Given the description of an element on the screen output the (x, y) to click on. 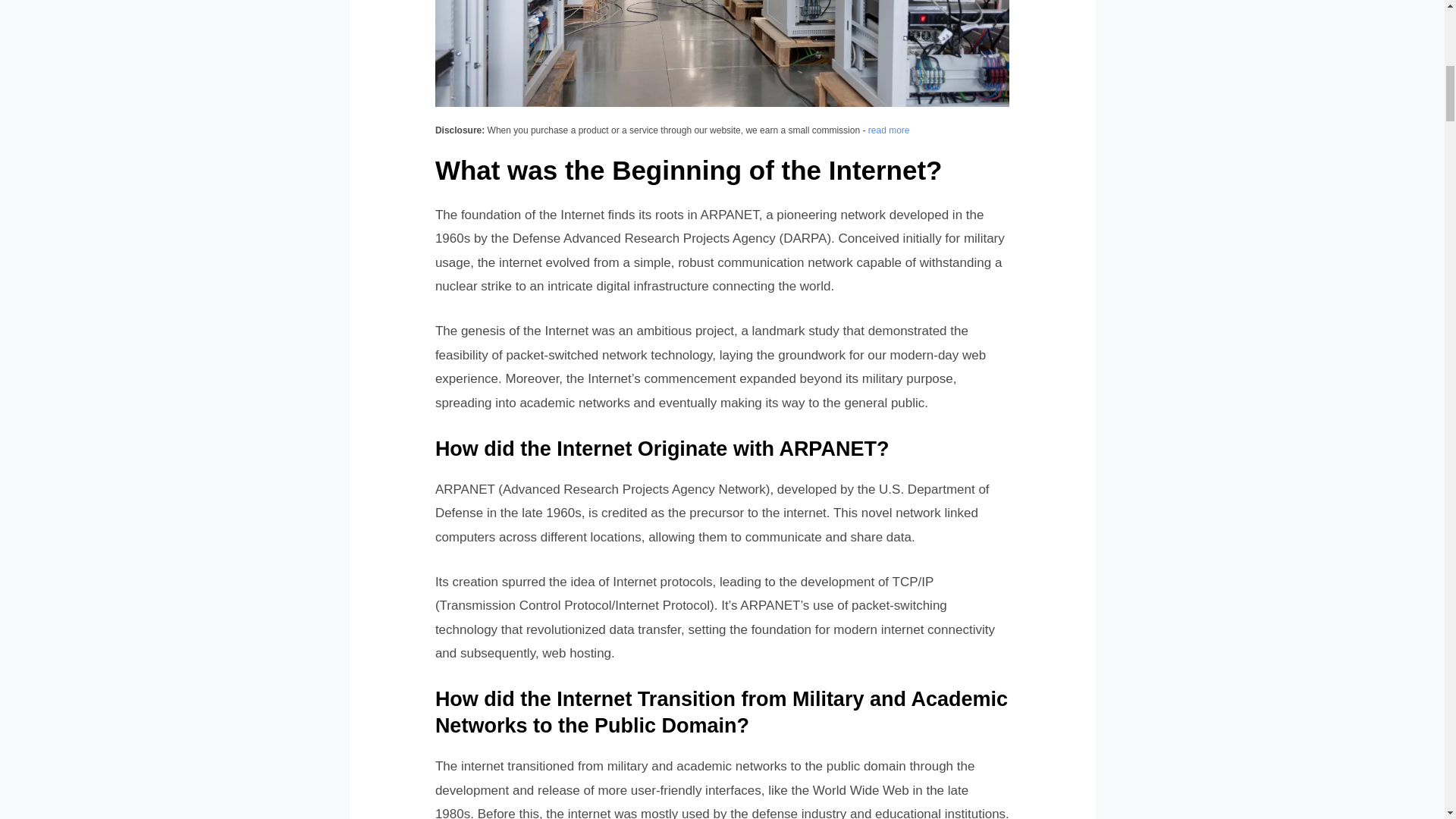
read more (888, 130)
